Given the description of an element on the screen output the (x, y) to click on. 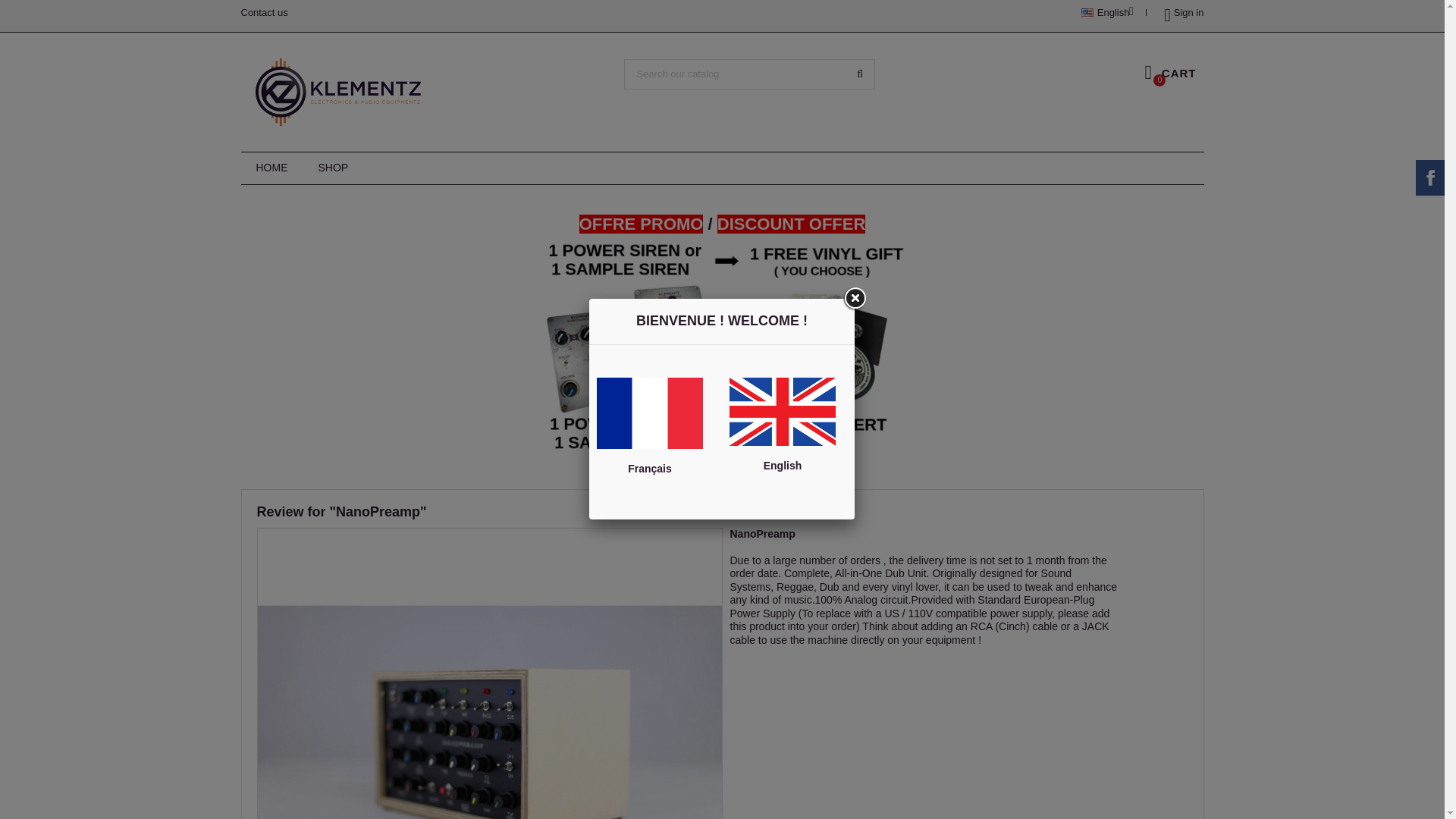
Log in to your customer account (1178, 12)
HOME (271, 168)
Close (854, 298)
NanoPreamp (761, 533)
SHOP (333, 168)
Contact us (264, 12)
NanoPreamp (761, 533)
NanoPreamp (489, 759)
